Given the description of an element on the screen output the (x, y) to click on. 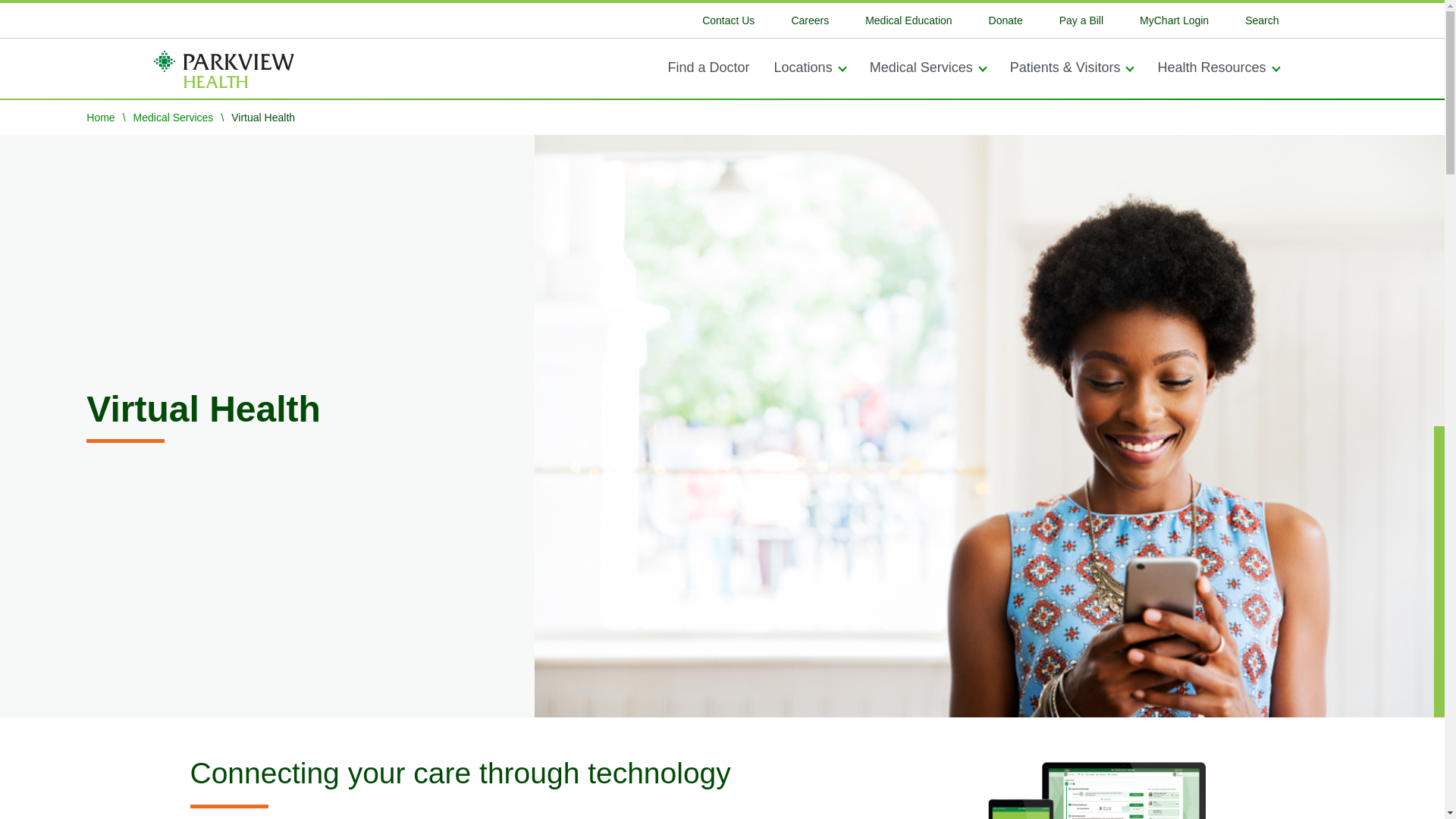
Medical Services (927, 65)
Locations (809, 65)
Find a Doctor (708, 65)
